Given the description of an element on the screen output the (x, y) to click on. 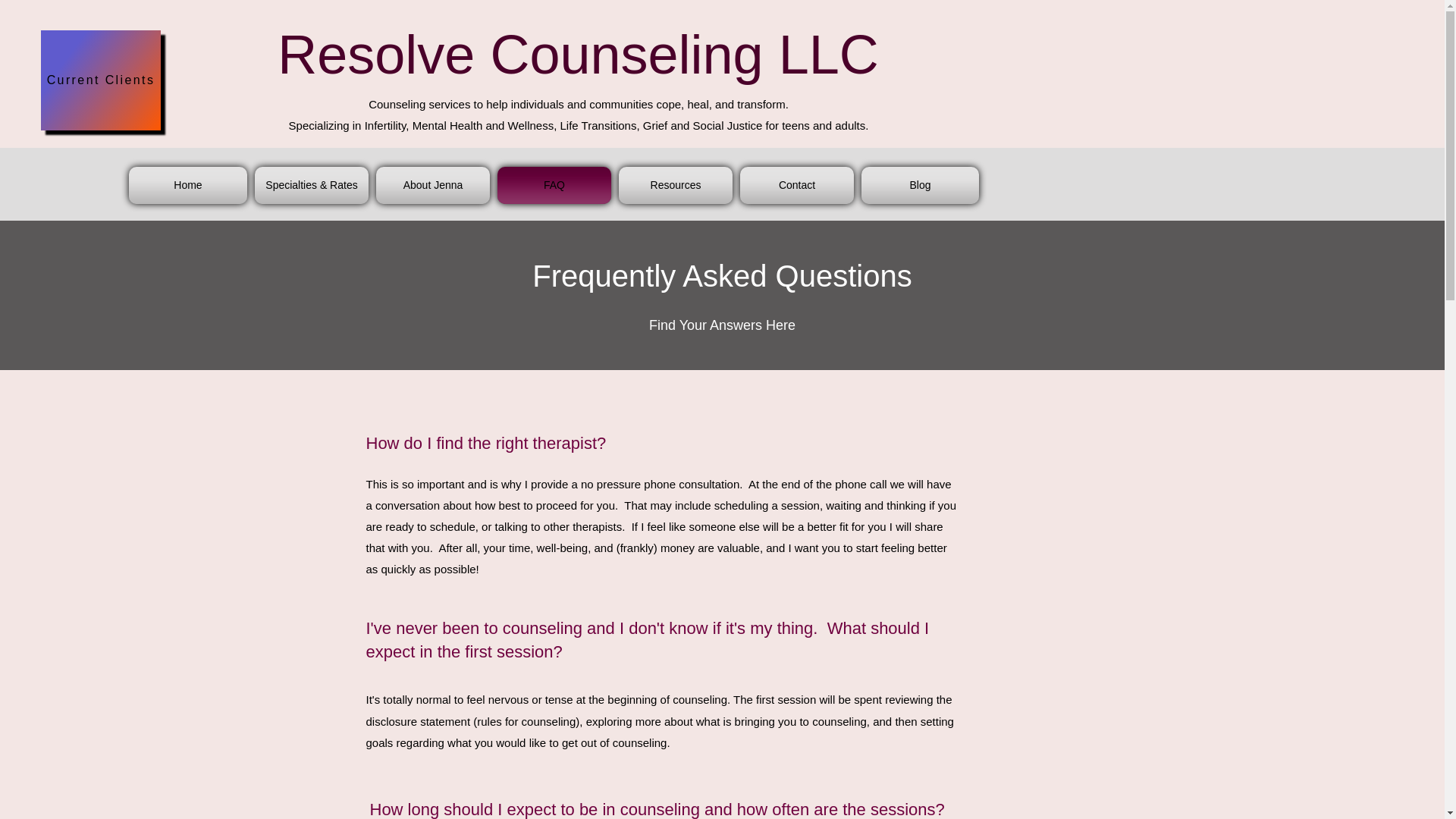
Current Clients (100, 80)
Blog (917, 185)
Home (189, 185)
Contact (796, 185)
FAQ (553, 185)
About Jenna (432, 185)
